Given the description of an element on the screen output the (x, y) to click on. 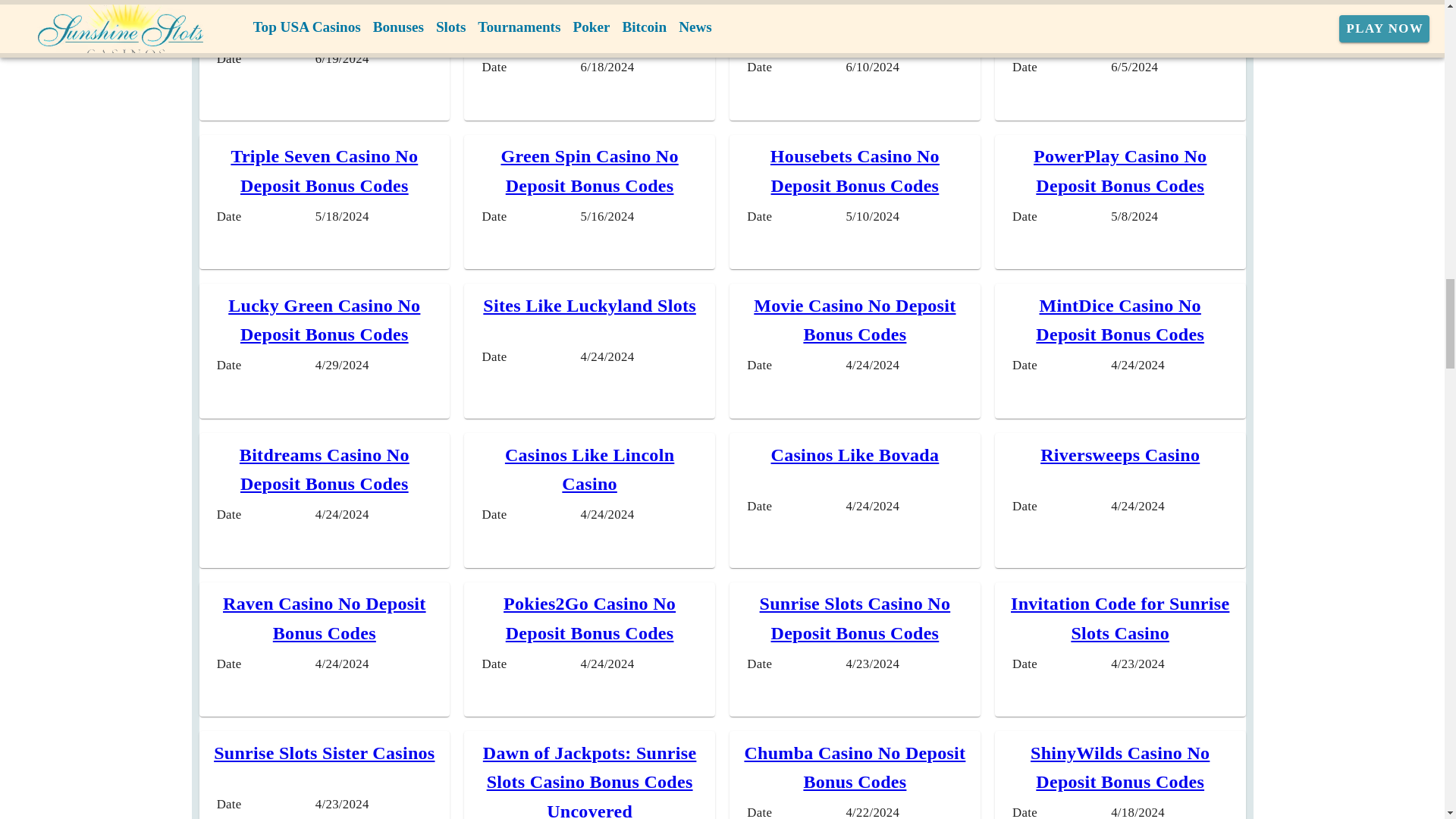
Green Spin Casino No Deposit Bonus Codes (589, 170)
Sunny Wins Casino (324, 8)
PowerPlay Casino No Deposit Bonus Codes (1120, 170)
SkyCrown No Deposit Bonus Codes (1120, 22)
Lucky Green Casino No Deposit Bonus Codes (324, 319)
Cafe Casino No Deposit Bonus Codes (854, 22)
Triple Seven Casino No Deposit Bonus Codes (323, 170)
Housebets Casino No Deposit Bonus Codes (854, 170)
Limitless Casino Sister Casinos (589, 22)
Sites Like Luckyland Slots (589, 305)
